Given the description of an element on the screen output the (x, y) to click on. 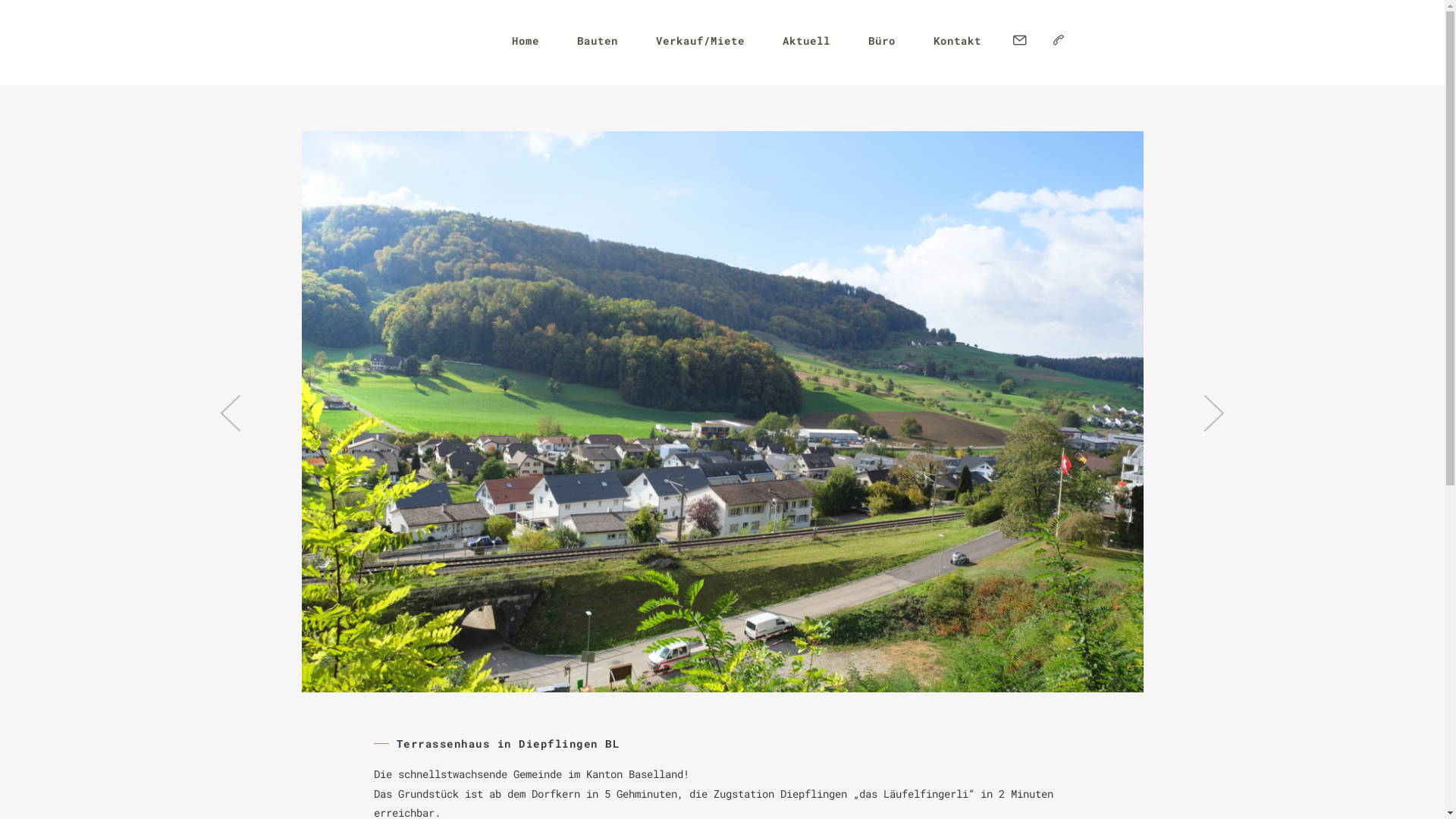
Aktuell Element type: text (806, 40)
Kontakt Element type: text (956, 40)
Verkauf/Miete Element type: text (699, 40)
diepflingen-dorf Element type: hover (722, 411)
Bauten Element type: text (596, 40)
Home Element type: text (524, 40)
